Given the description of an element on the screen output the (x, y) to click on. 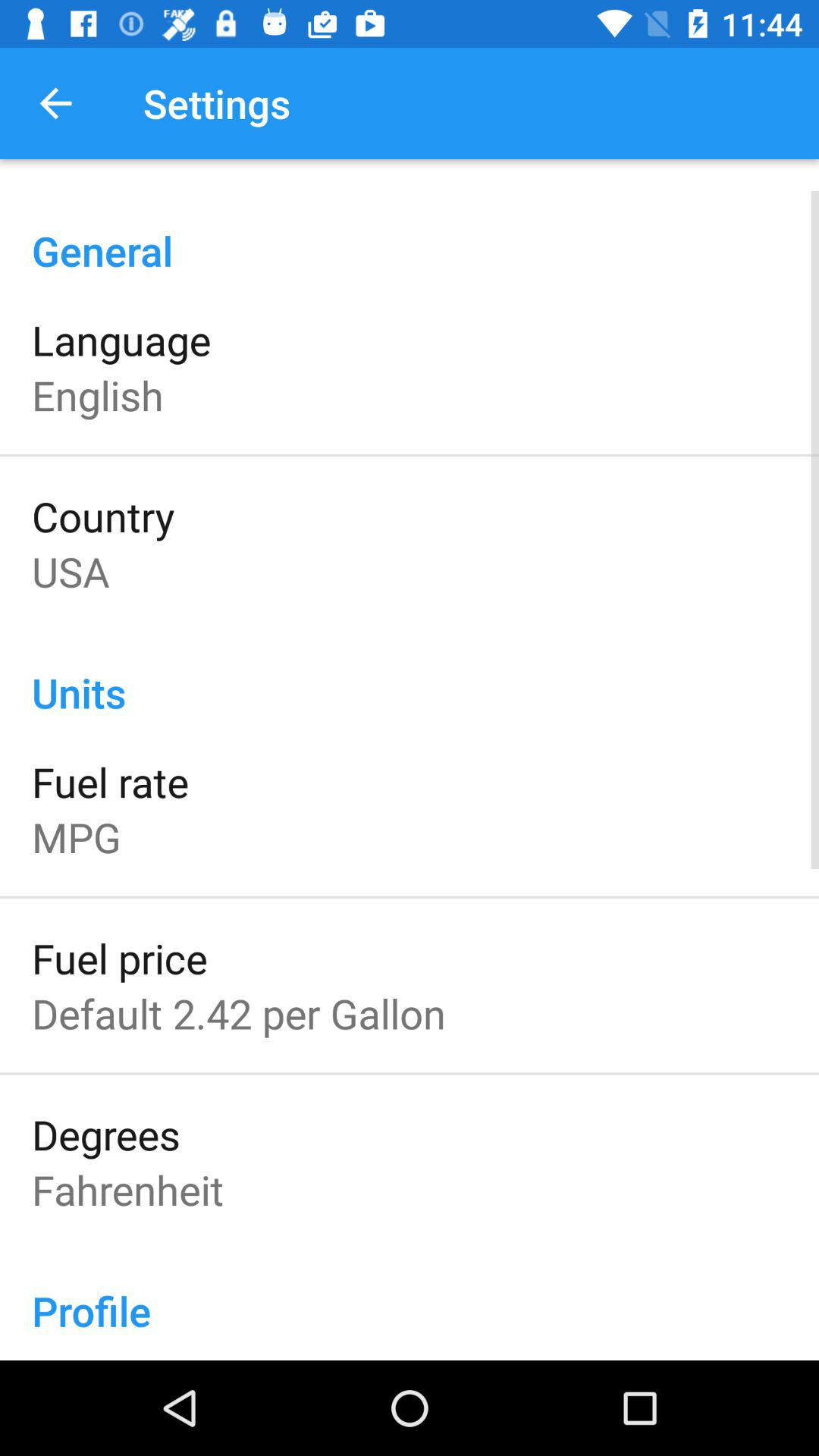
launch the default 2 42 item (238, 1012)
